Given the description of an element on the screen output the (x, y) to click on. 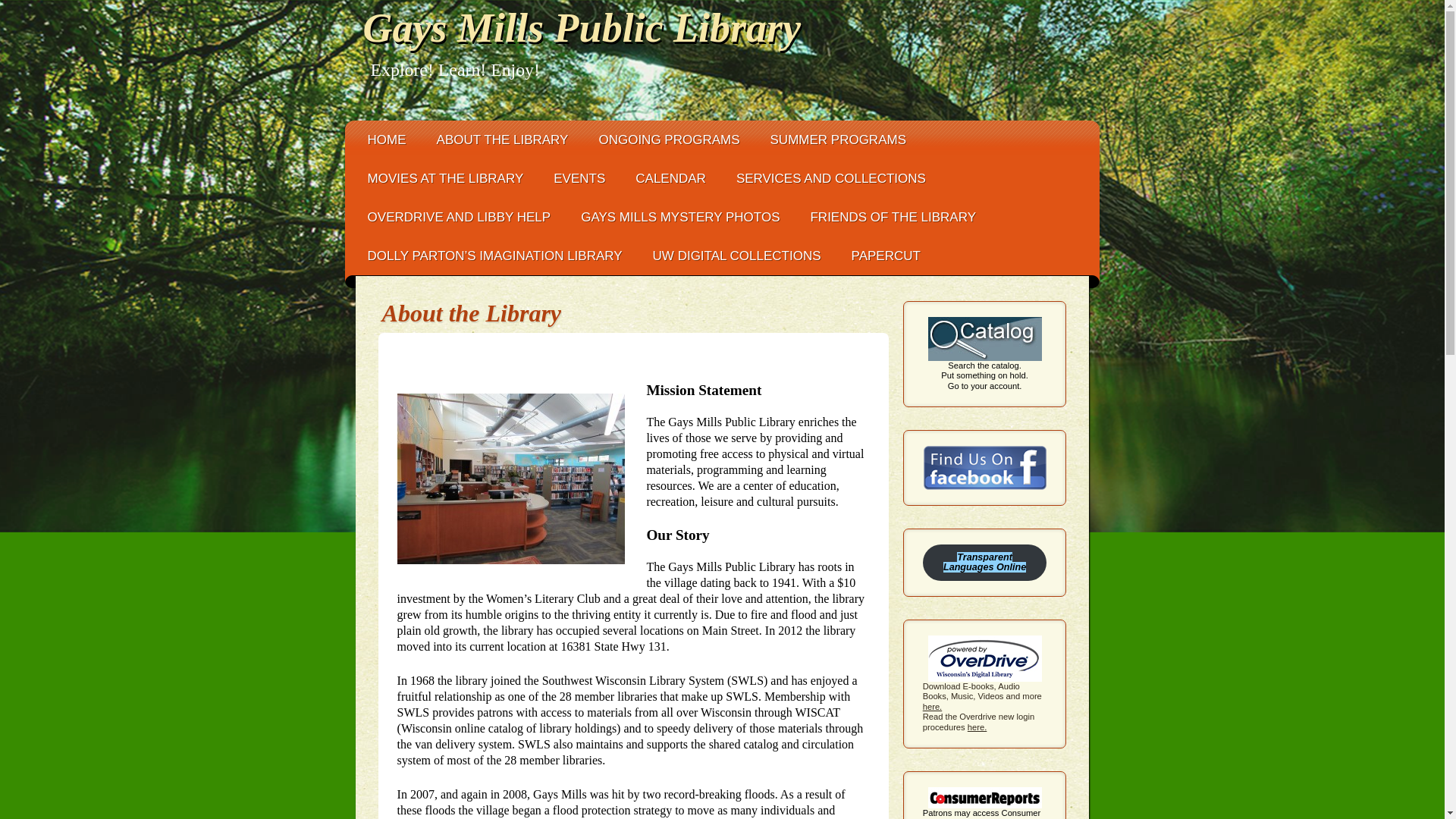
Transparent Languages Online (984, 562)
Read the Overdrive new login procedures here. (978, 721)
FRIENDS OF THE LIBRARY (892, 217)
Wisconsin's Digital Library (984, 673)
GAYS MILLS MYSTERY PHOTOS (680, 217)
Download E-books, Audio Books, Music, Videos and more here. (984, 673)
SERVICES AND COLLECTIONS (830, 178)
MOVIES AT THE LIBRARY (445, 178)
PAPERCUT (885, 255)
ONGOING PROGRAMS (668, 139)
Gays Mills Public Library (582, 27)
UW DIGITAL COLLECTIONS (736, 255)
ABOUT THE LIBRARY (502, 139)
Gays Mills Public Library (582, 27)
